Given the description of an element on the screen output the (x, y) to click on. 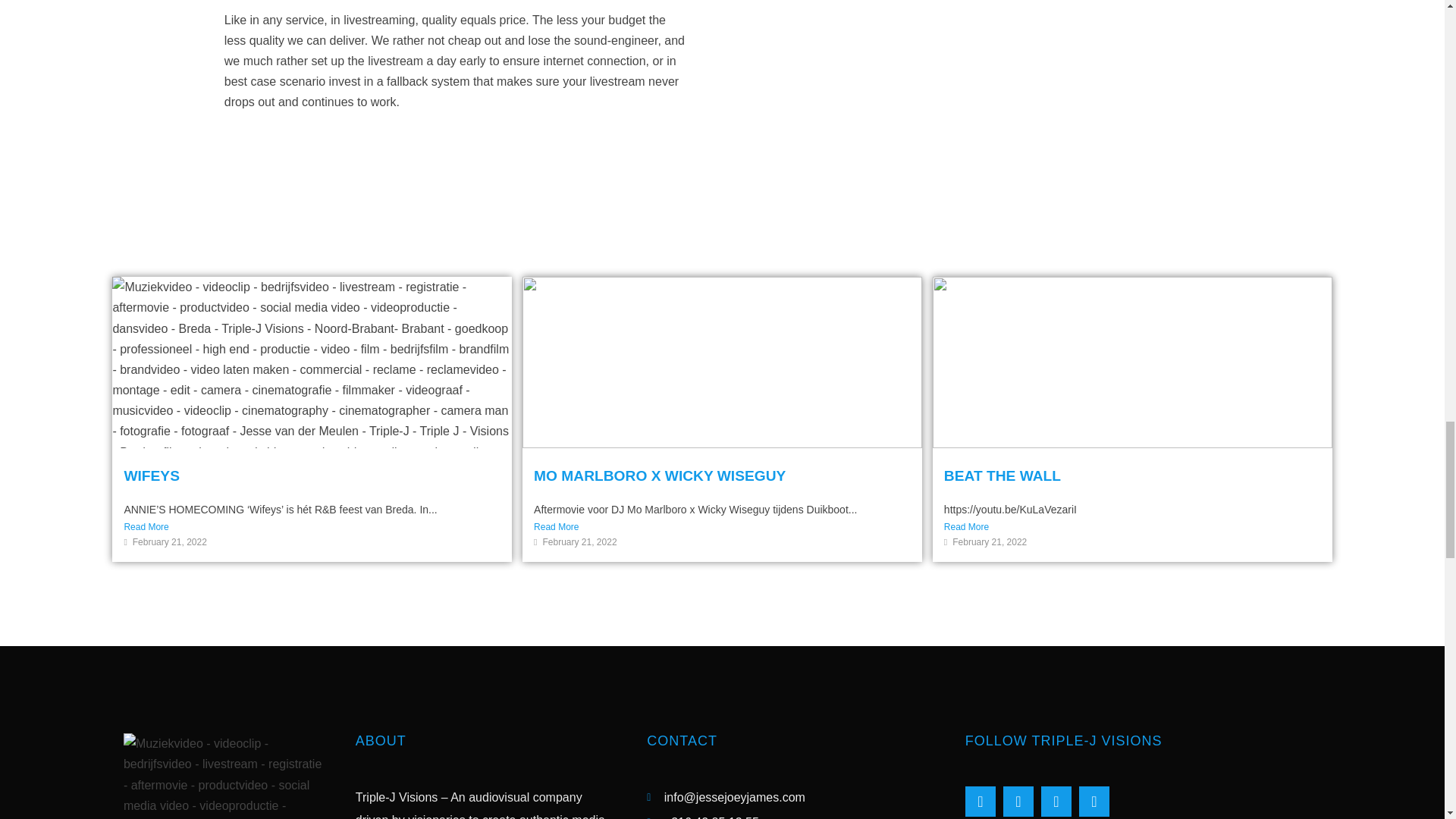
Read More (311, 526)
Read More (722, 526)
MO MARLBORO X WICKY WISEGUY (660, 475)
BEAT THE WALL (1002, 475)
Read More (1131, 526)
MO MARLBORO X WICKY WISEGUY (660, 475)
WIFEYS (151, 475)
BEAT THE WALL (1002, 475)
WIFEYS (151, 475)
